Given the description of an element on the screen output the (x, y) to click on. 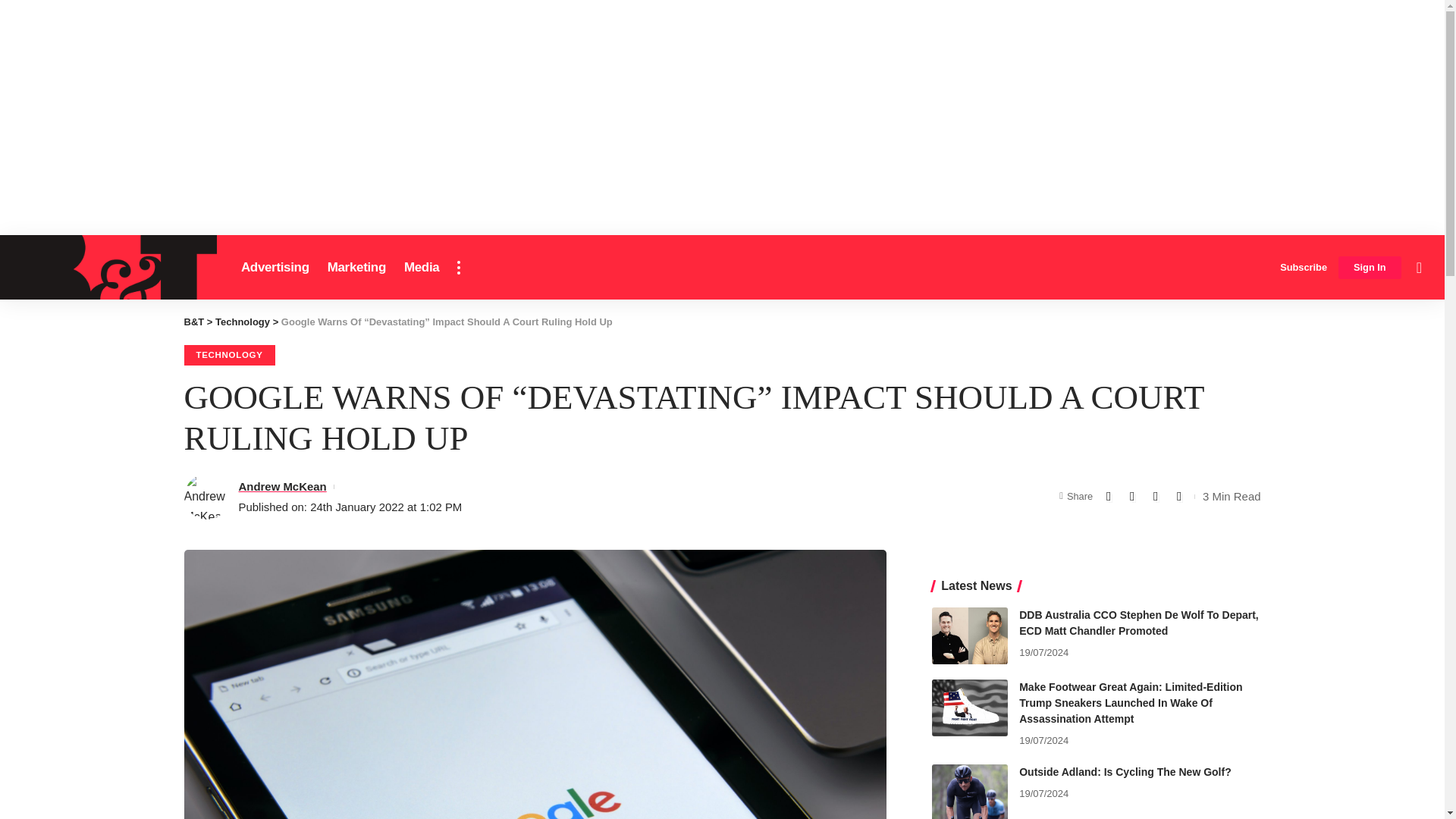
Go to the Technology Category archives. (242, 321)
Marketing (356, 267)
Sign In (1369, 267)
Outside Adland: Is Cycling The New Golf? (969, 791)
Advertising (274, 267)
